Given the description of an element on the screen output the (x, y) to click on. 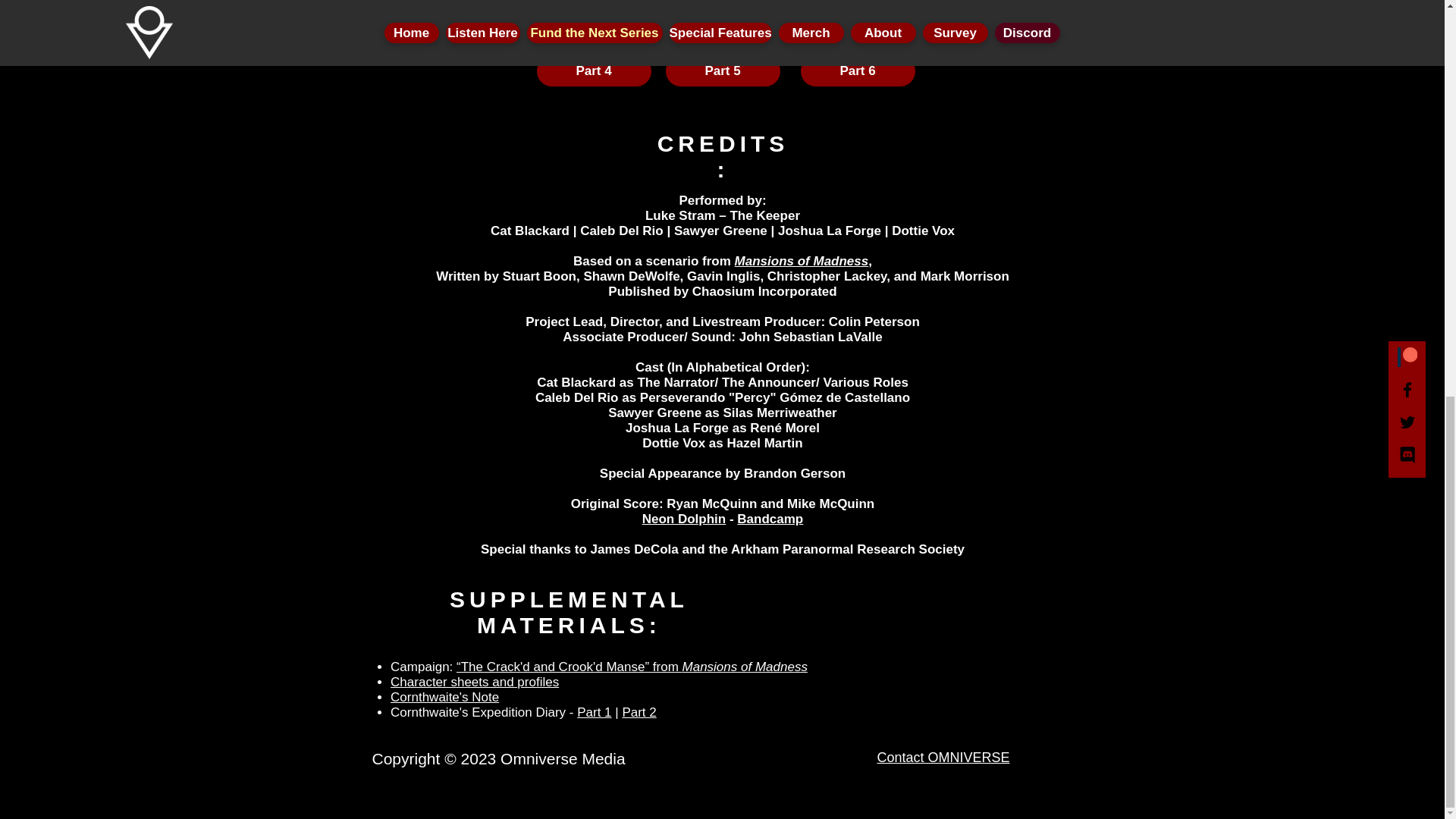
Part 1 (593, 712)
Bandcamp (769, 518)
Part 1 (588, 23)
Cornthwaite's Note (444, 698)
Part 6 (857, 71)
Contact OMNIVERSE (942, 757)
Part 2 (638, 712)
Part 4 (593, 71)
Part 3 (857, 23)
Part 2 (722, 23)
Character sheets and profiles (474, 682)
Part 5 (722, 71)
Mansions of Madness (802, 260)
